Given the description of an element on the screen output the (x, y) to click on. 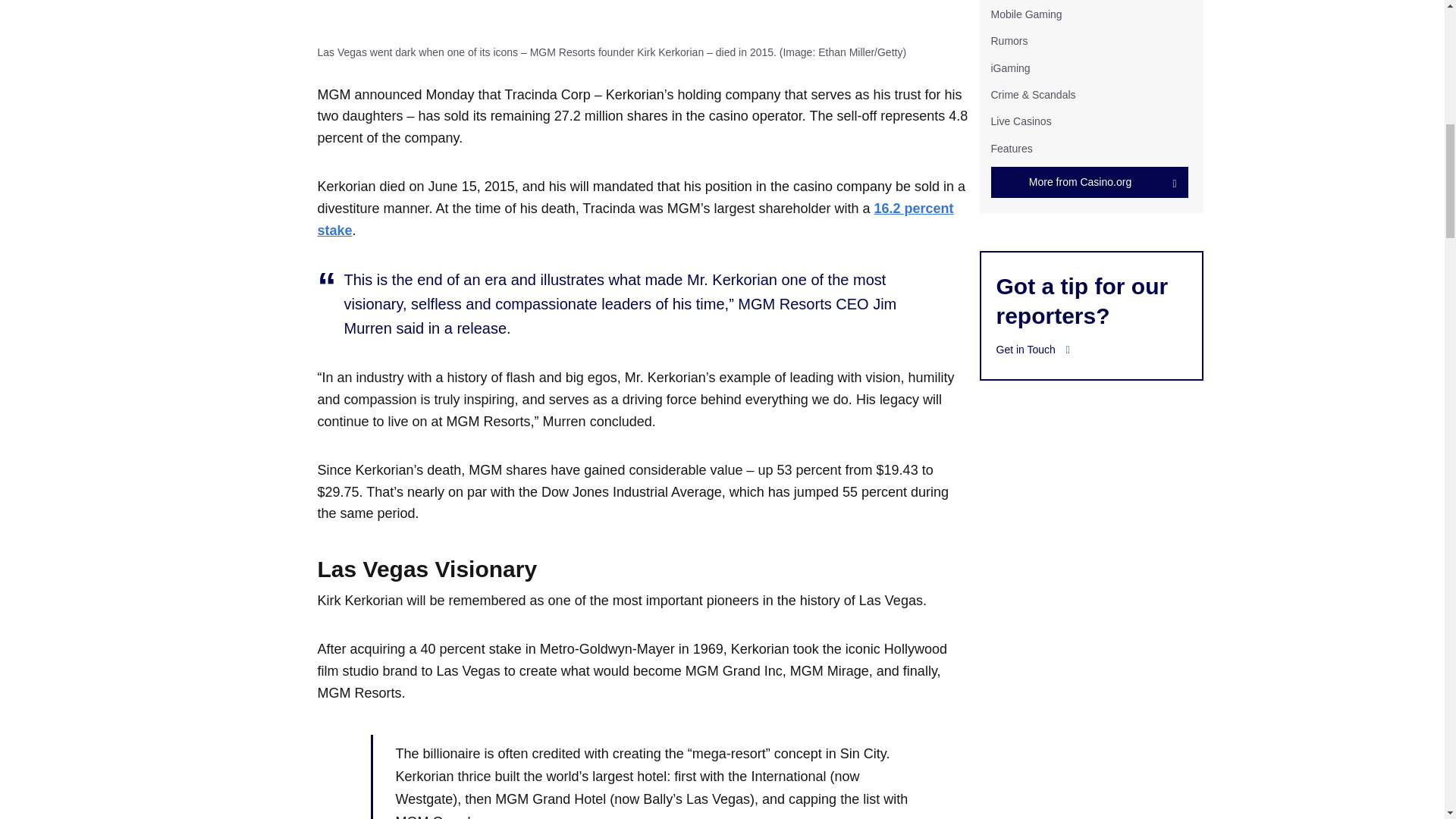
Rumors (1008, 40)
16.2 percent stake (635, 219)
Live Casinos (1020, 121)
iGaming (1009, 68)
Features (1011, 148)
Mobile Gaming (1025, 14)
